Given the description of an element on the screen output the (x, y) to click on. 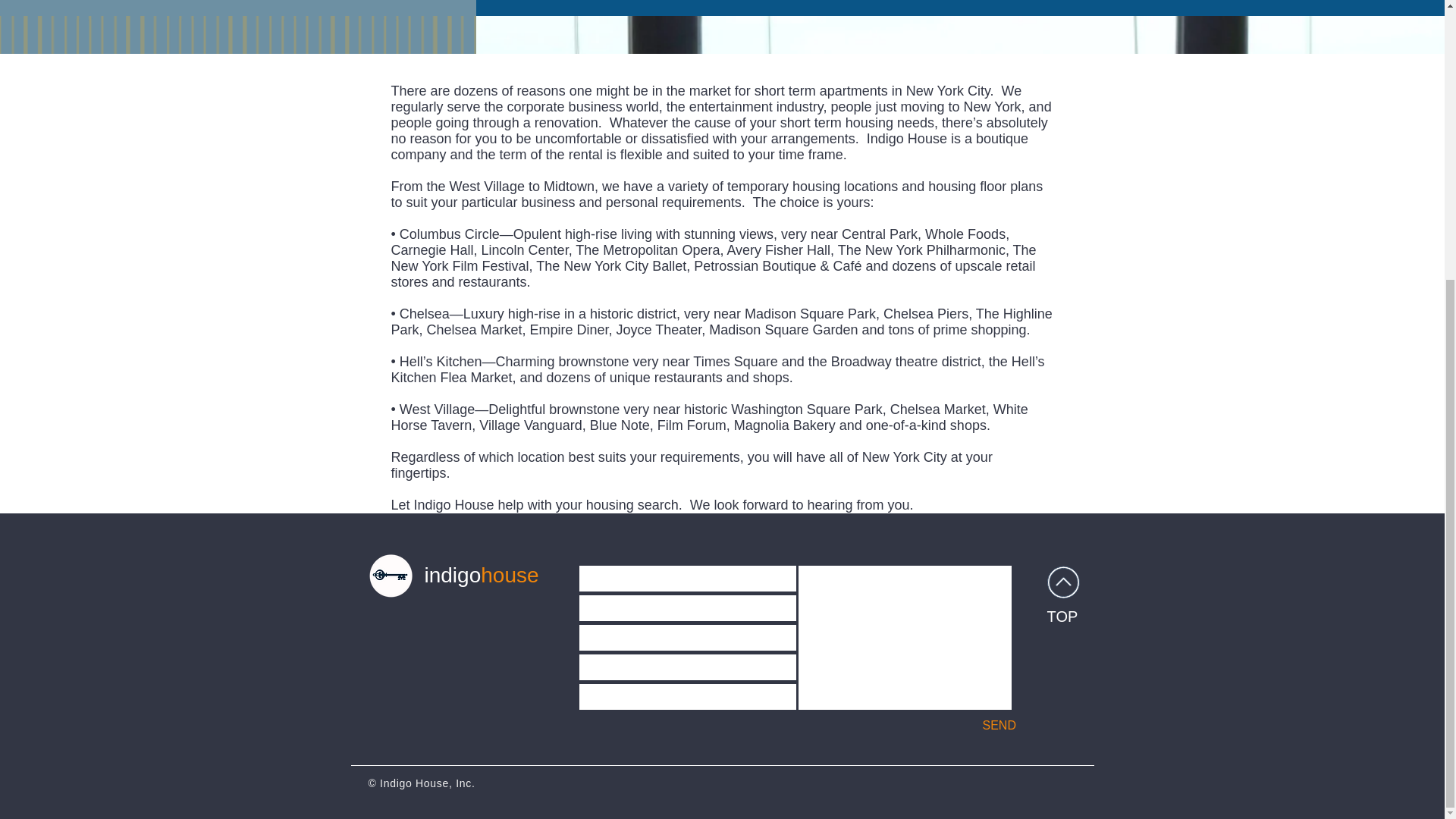
logo-white.png (390, 575)
SEND (999, 725)
indigohouse (481, 575)
